Given the description of an element on the screen output the (x, y) to click on. 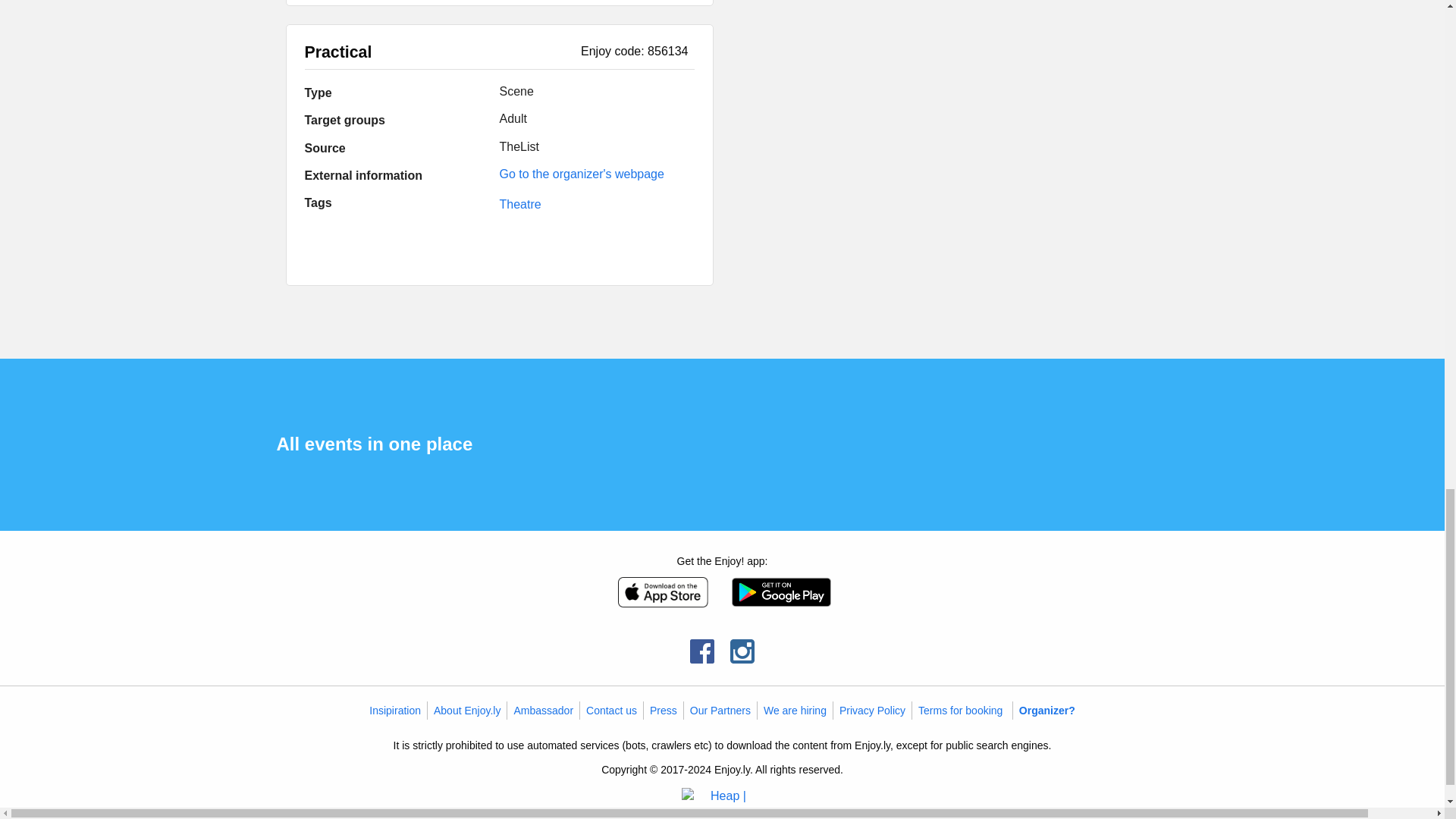
Contact us (611, 710)
Terms for booking (960, 710)
Activities tagged withTheatre (519, 204)
Privacy Policy (872, 710)
Go to the organizer's webpage (581, 173)
Organizer? (1047, 710)
Theatre (519, 204)
Insipiration (394, 710)
Ambassador (543, 710)
We are hiring (794, 710)
About Enjoy.ly (466, 710)
Press (663, 710)
Our Partners (720, 710)
